Given the description of an element on the screen output the (x, y) to click on. 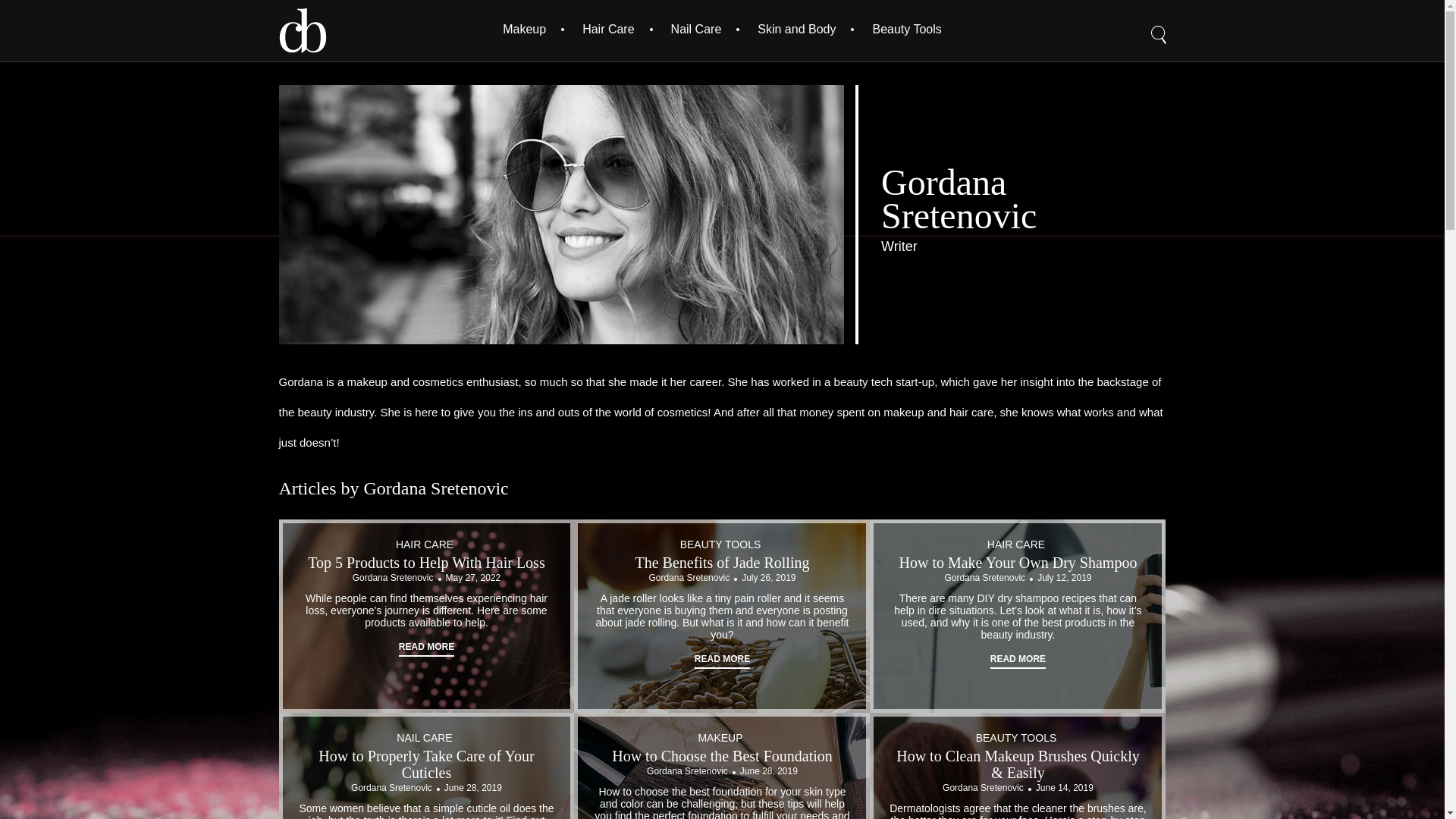
BEAUTY TOOLS (1016, 737)
BEAUTY TOOLS (720, 544)
MAKEUP (719, 737)
HAIR CARE (424, 544)
Makeup (524, 29)
NAIL CARE (423, 737)
Hair Care (607, 29)
CosmeticsAndBeauty (302, 30)
HAIR CARE (1016, 544)
Nail Care (696, 29)
Skin and Body (796, 29)
Beauty Tools (906, 29)
Search (1158, 24)
